Given the description of an element on the screen output the (x, y) to click on. 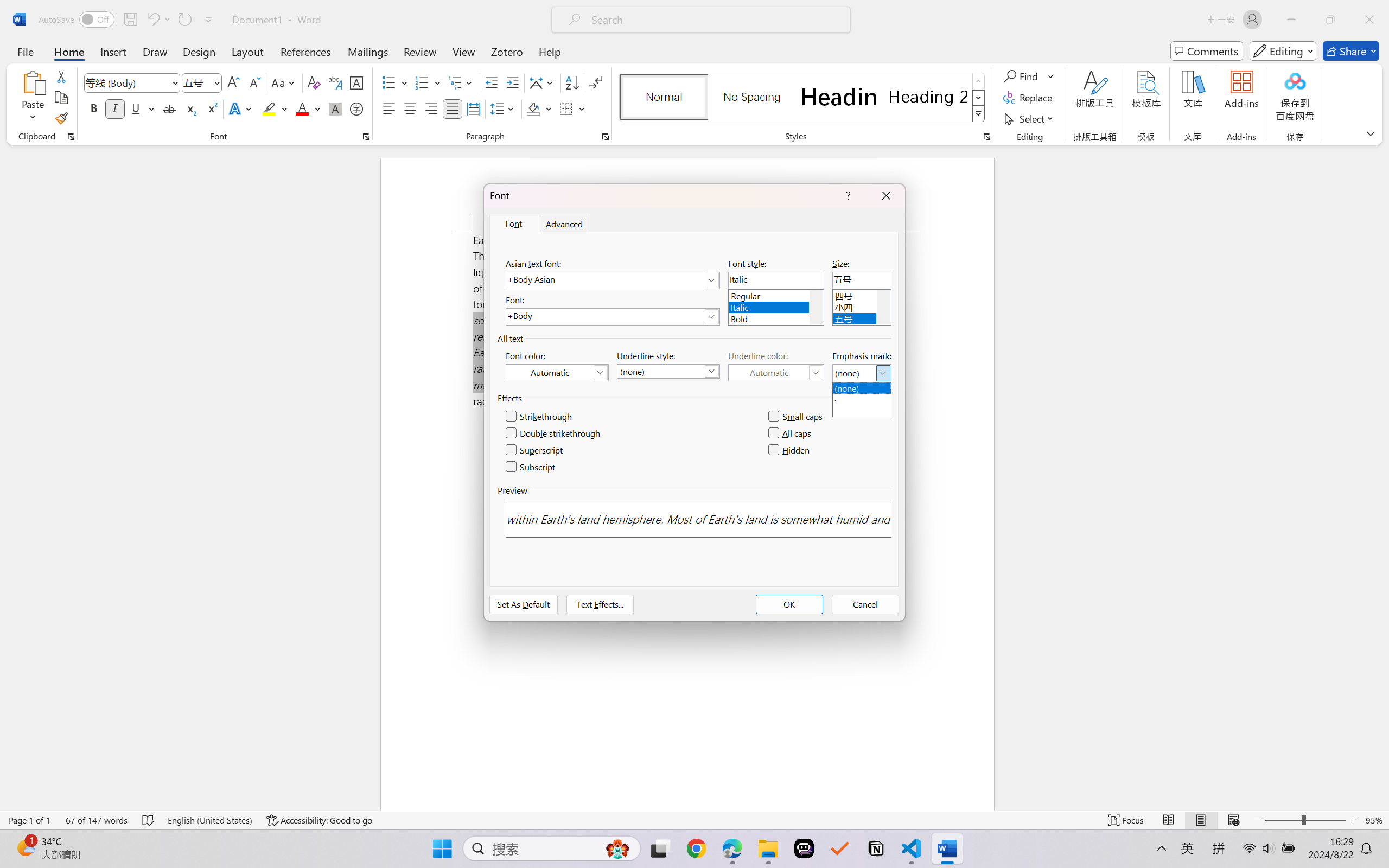
Strikethrough (169, 108)
Phonetic Guide... (334, 82)
Text Effects... (599, 603)
OK (789, 603)
Emphasis mark: (861, 372)
